Given the description of an element on the screen output the (x, y) to click on. 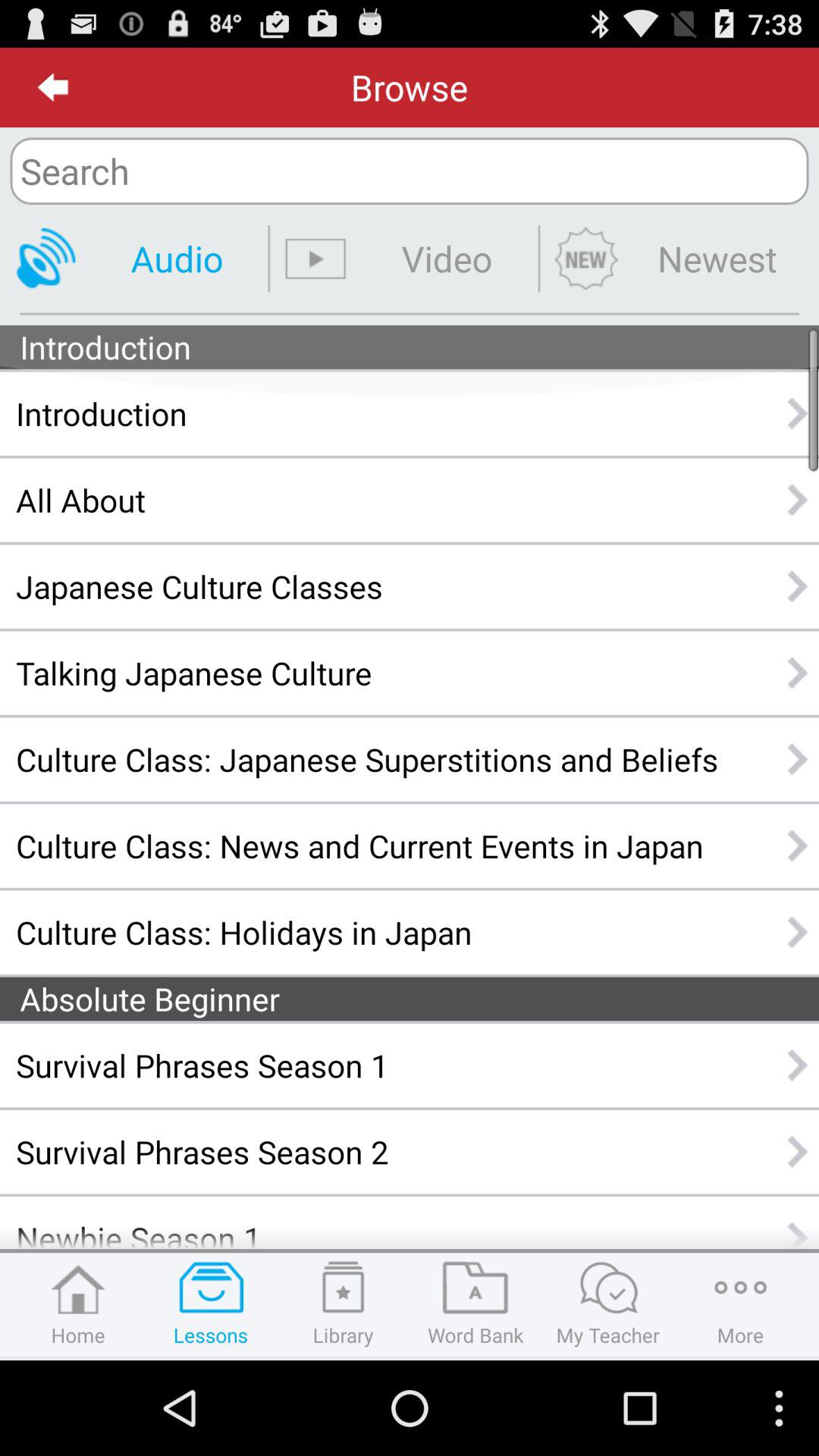
select the arrow which is below the text talking japanese culture (798, 758)
click on the icon above library (342, 1287)
click on home right to lessons (78, 1304)
click on the sixth arrow from top (798, 845)
click on the button which is next to the introduction (798, 413)
